Given the description of an element on the screen output the (x, y) to click on. 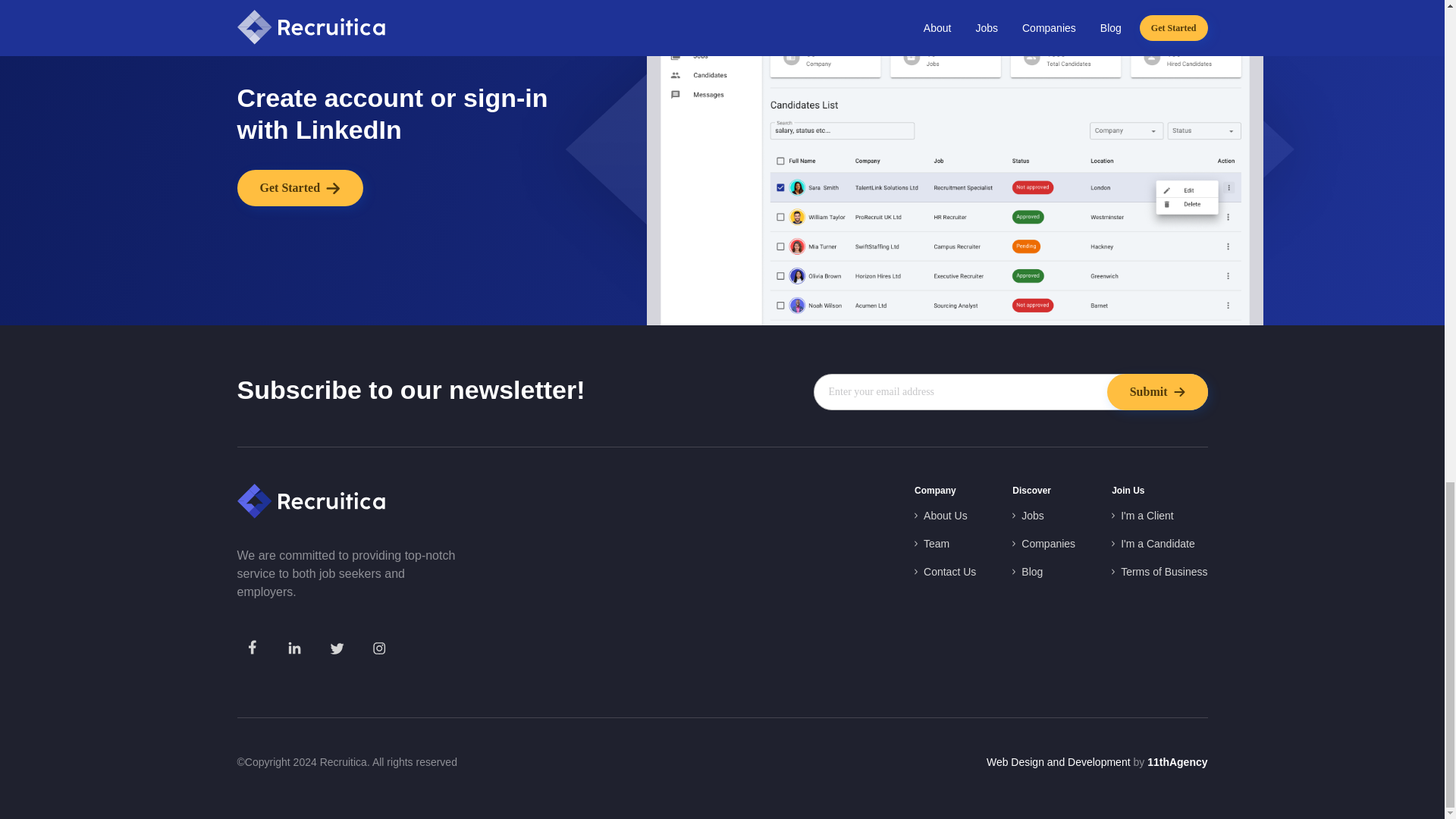
Blog (1026, 571)
About Us (941, 515)
Contact Us (944, 571)
Jobs (1027, 515)
I'm a Candidate (1153, 544)
Web Design and Development (1059, 761)
Submit (1157, 391)
Team (931, 544)
Companies (1043, 544)
Get Started (298, 187)
